Given the description of an element on the screen output the (x, y) to click on. 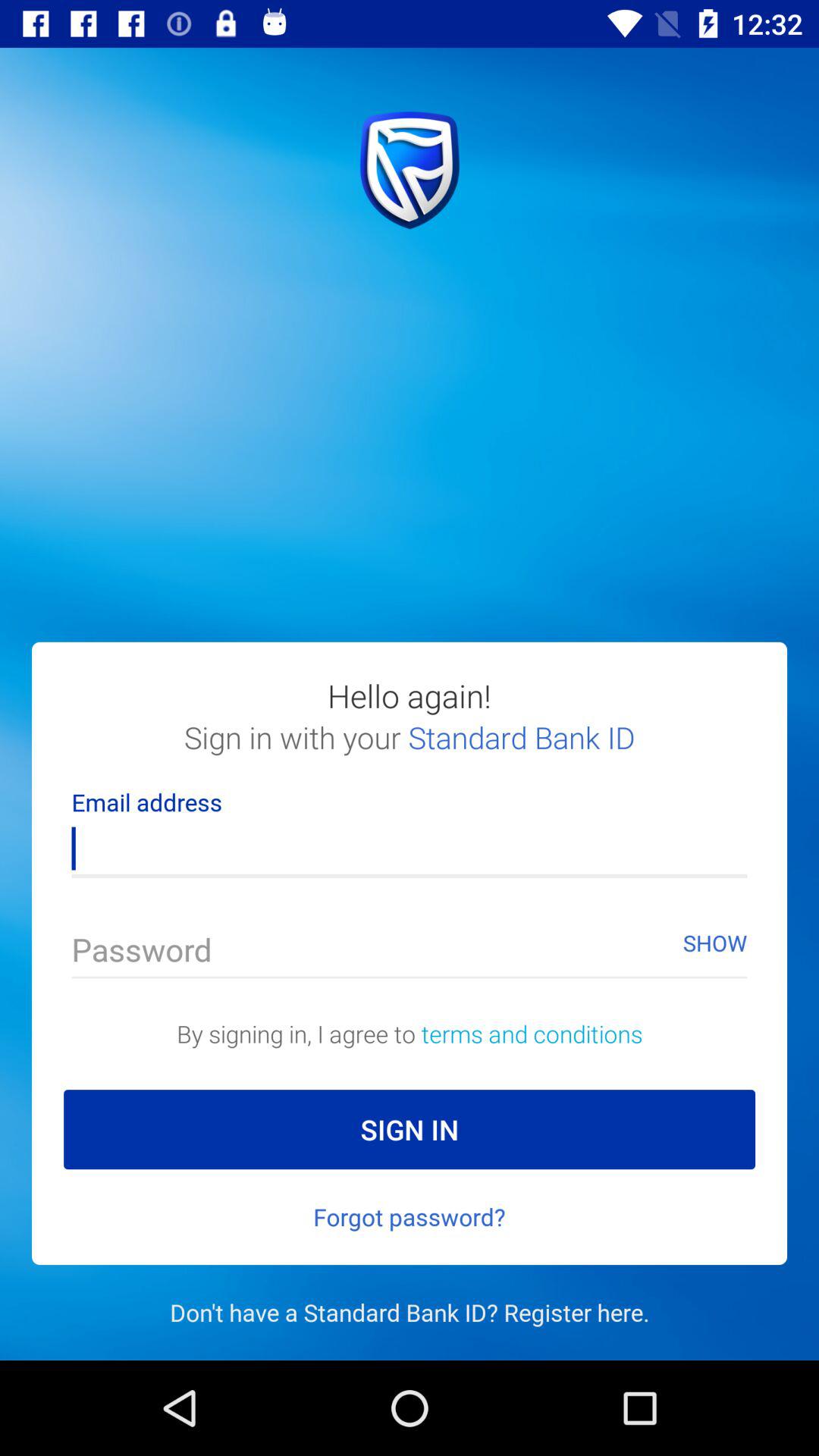
click on the logo which is at the top (409, 170)
click on the option which says sign in with your standard bank id (409, 753)
click on sign in (409, 1129)
select the 2nd text field (409, 943)
select email address (409, 840)
select the text above the sign in (409, 1034)
select the 1nd text field (409, 840)
click on the text area which says password (409, 943)
